Given the description of an element on the screen output the (x, y) to click on. 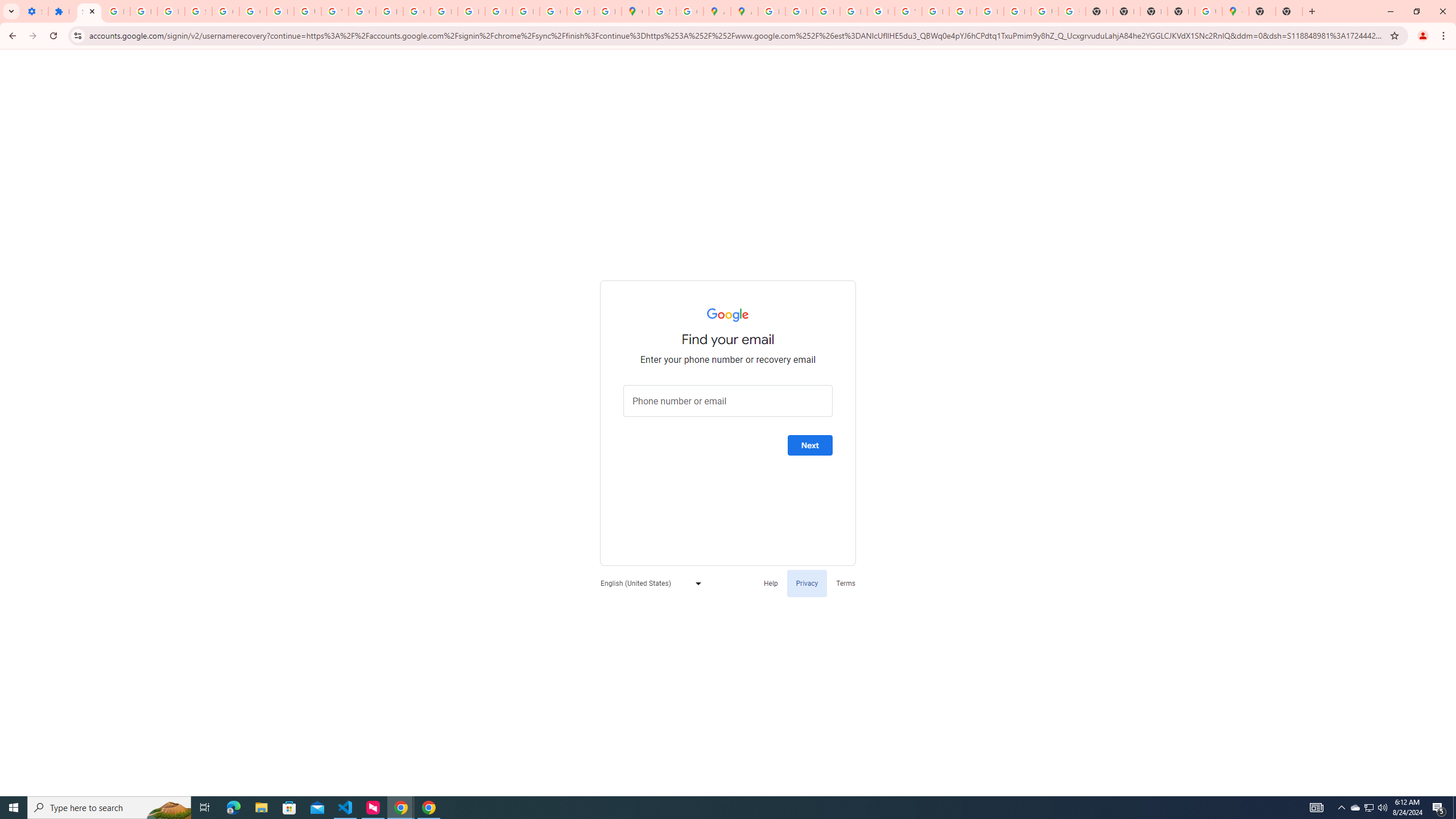
Settings - On startup (34, 11)
YouTube (908, 11)
https://scholar.google.com/ (389, 11)
Privacy Help Center - Policies Help (444, 11)
